Given the description of an element on the screen output the (x, y) to click on. 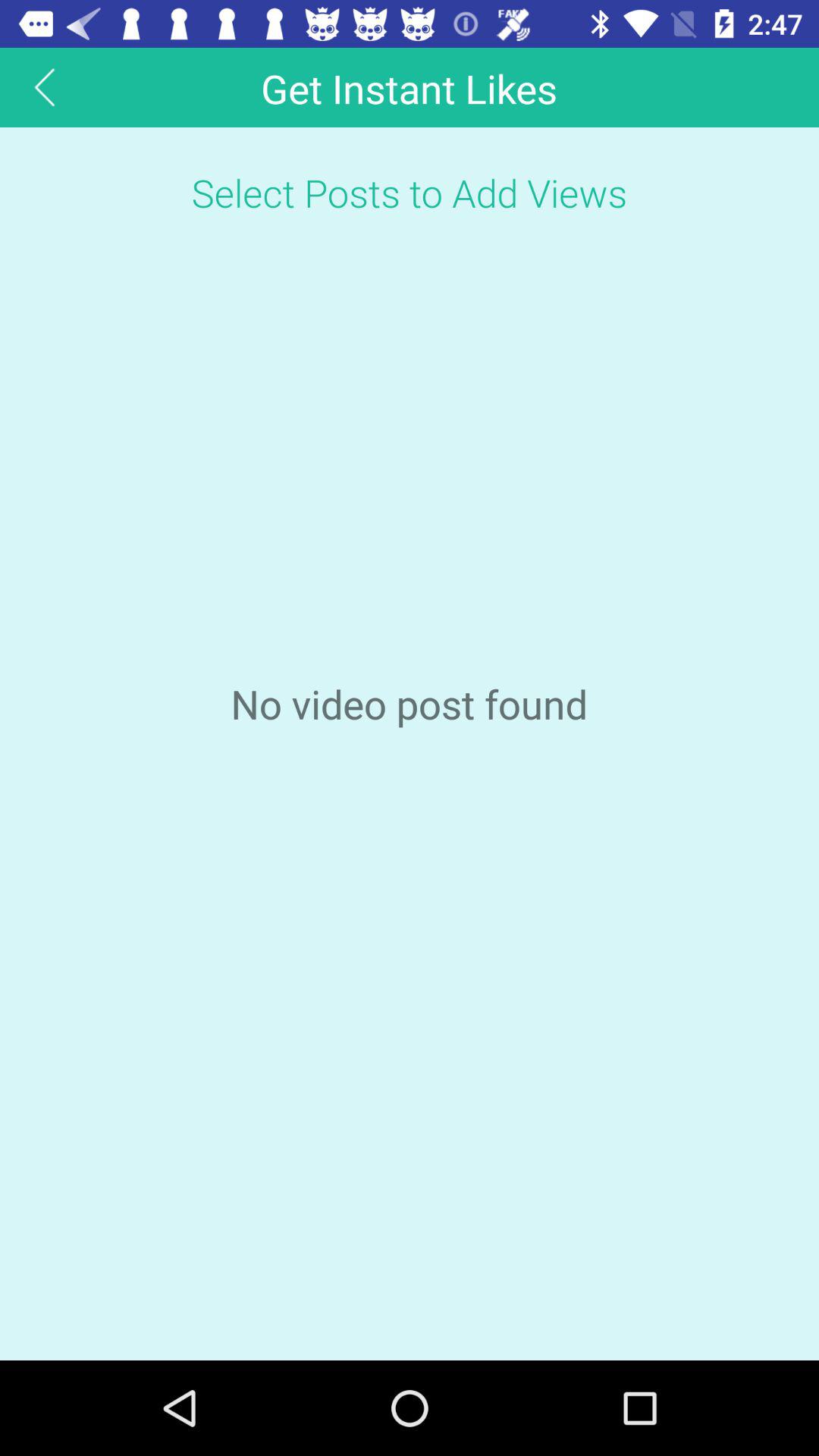
choose the icon to the left of get instant likes item (44, 87)
